Given the description of an element on the screen output the (x, y) to click on. 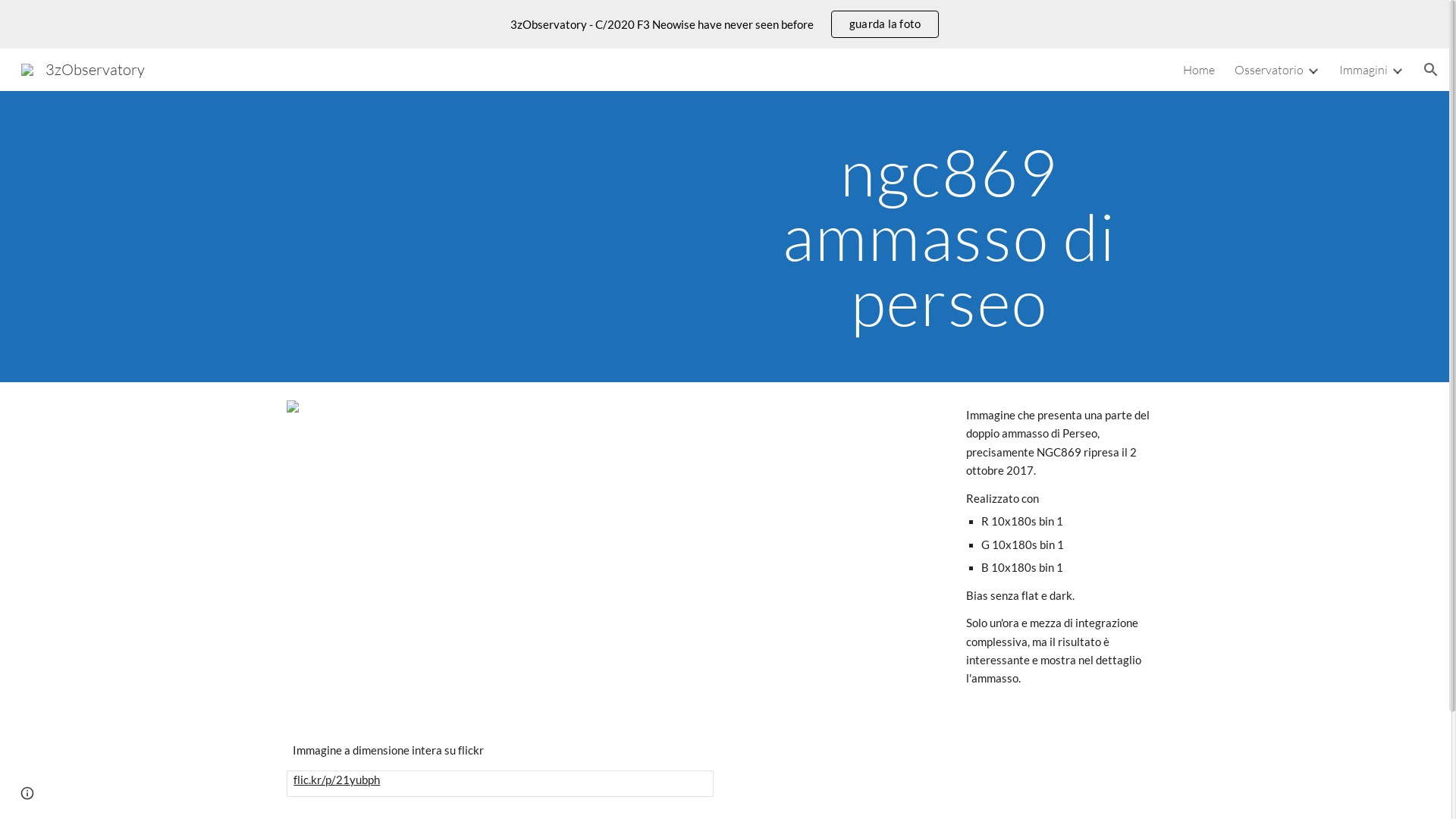
Osservatorio Element type: text (1268, 69)
Home Element type: text (1198, 69)
3zObservatory Element type: text (82, 67)
flic.kr/p/21yubph Element type: text (336, 779)
Expand/Collapse Element type: hover (1312, 69)
Expand/Collapse Element type: hover (1396, 69)
Immagini Element type: text (1363, 69)
guarda la foto Element type: text (884, 24)
